Given the description of an element on the screen output the (x, y) to click on. 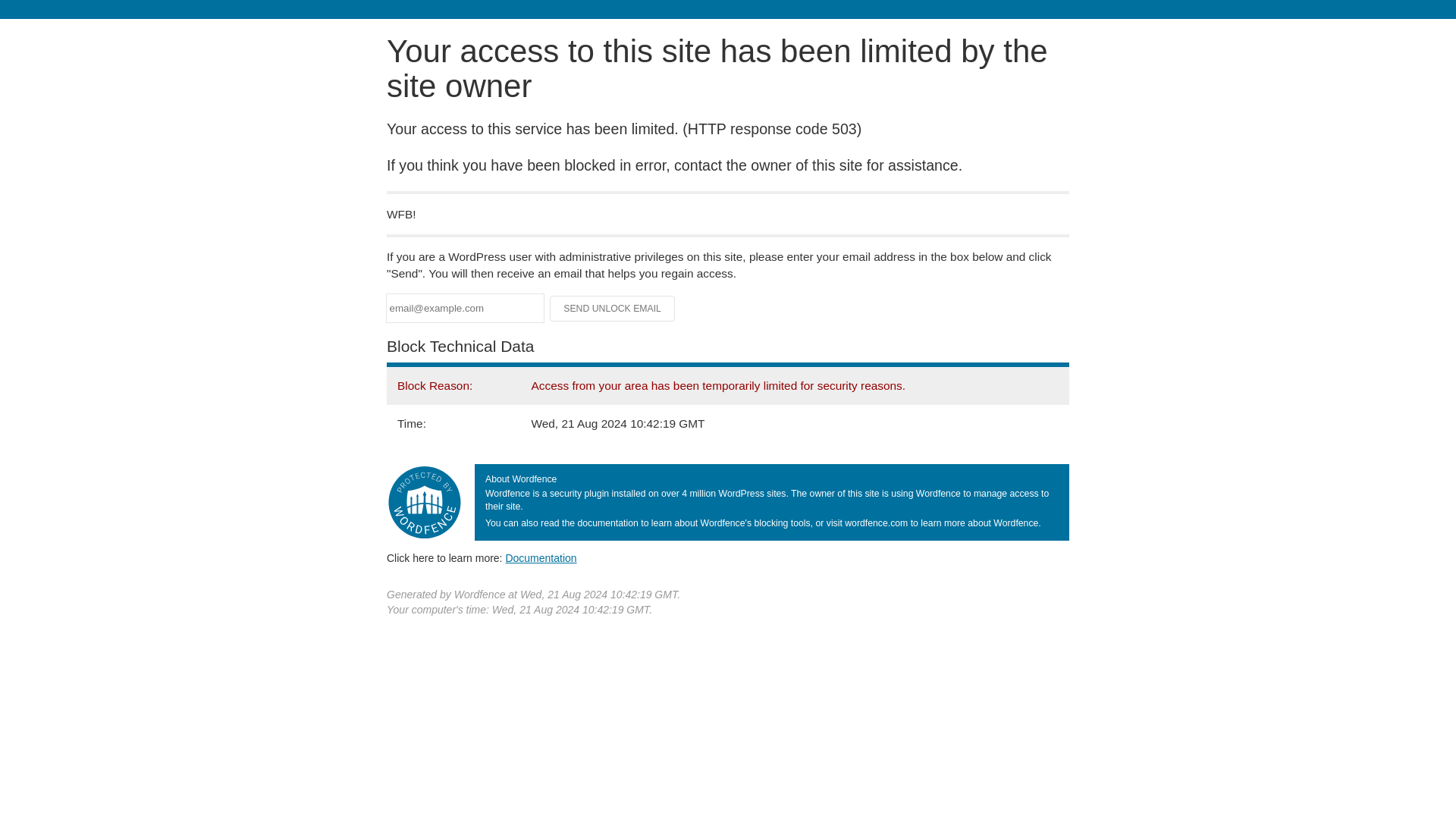
Documentation (540, 558)
Send Unlock Email (612, 308)
Send Unlock Email (612, 308)
